Given the description of an element on the screen output the (x, y) to click on. 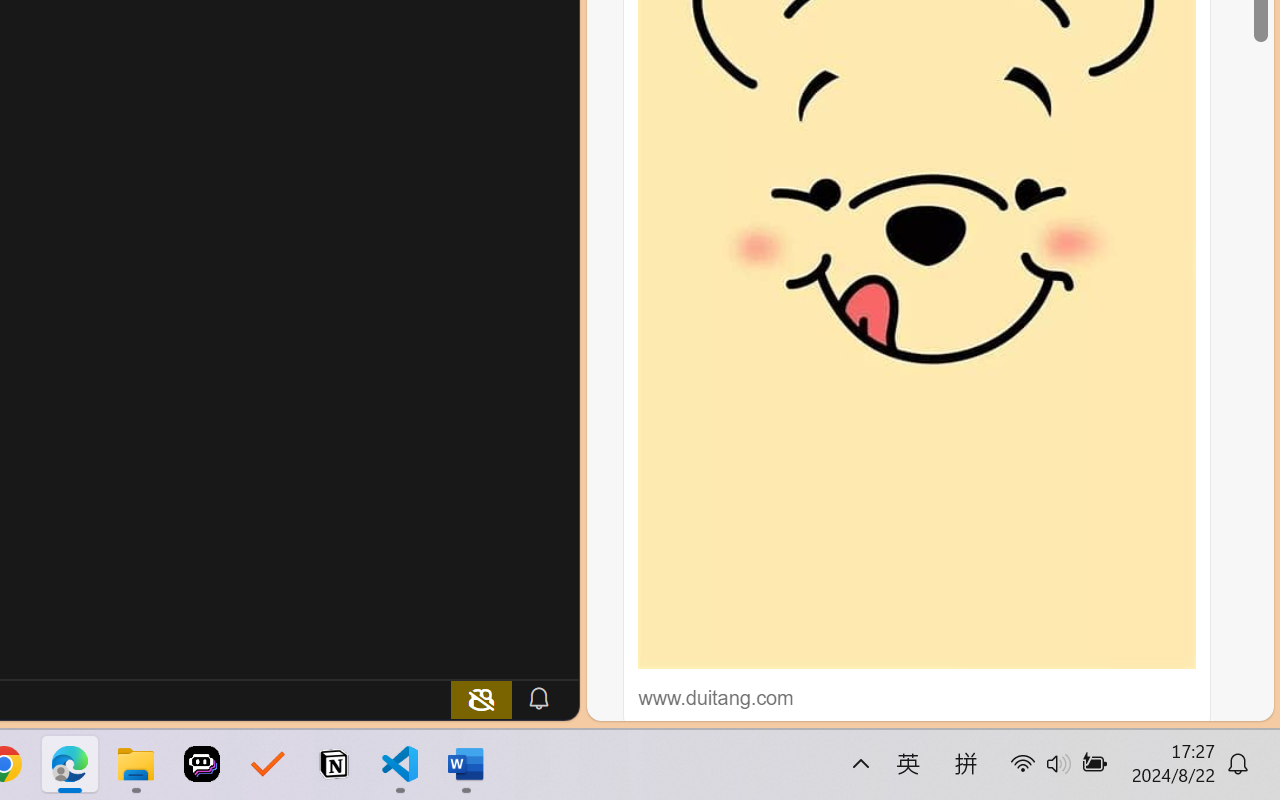
copilot-notconnected, Copilot error (click for details) (481, 698)
Notifications (537, 698)
